Given the description of an element on the screen output the (x, y) to click on. 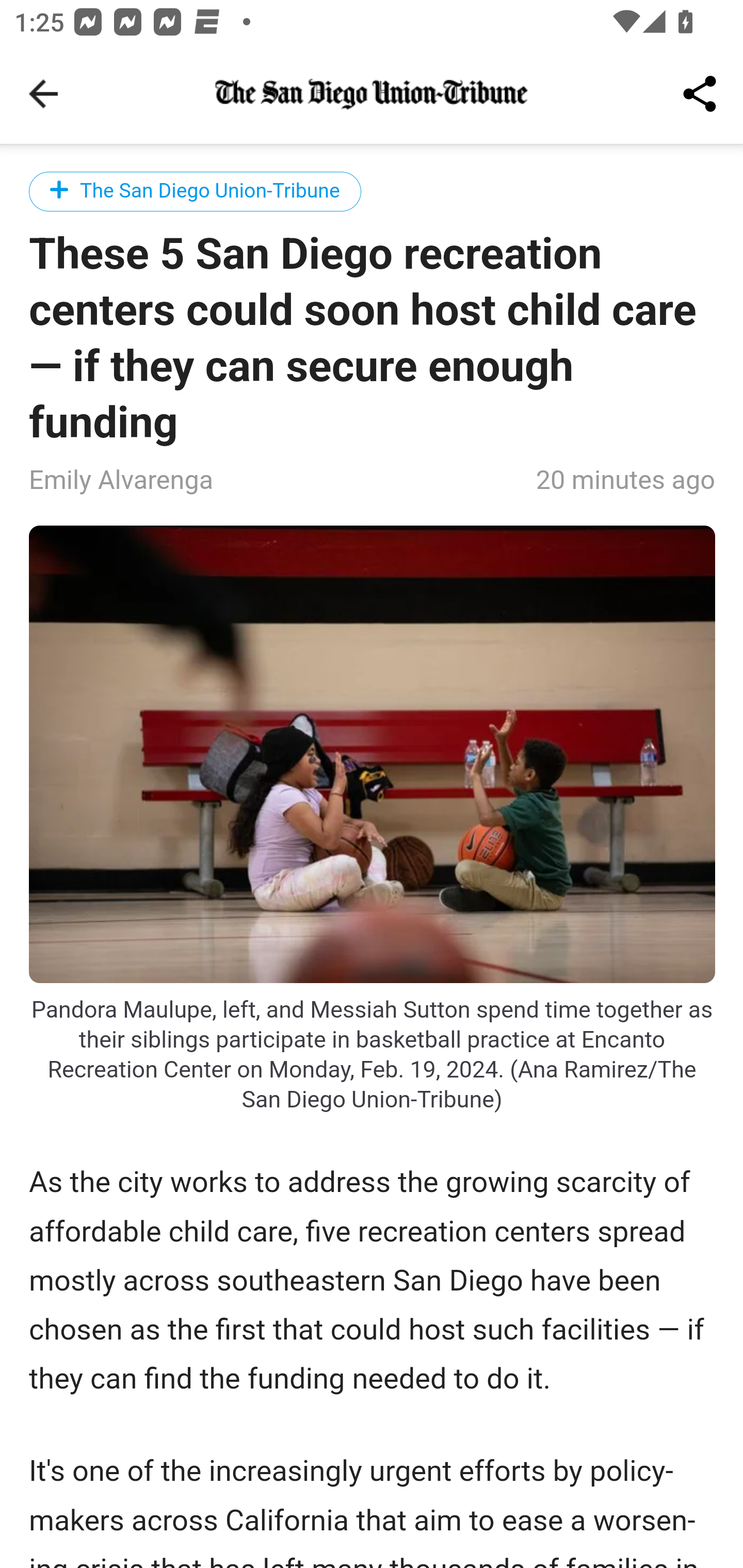
The San Diego Union-Tribune (195, 191)
